Given the description of an element on the screen output the (x, y) to click on. 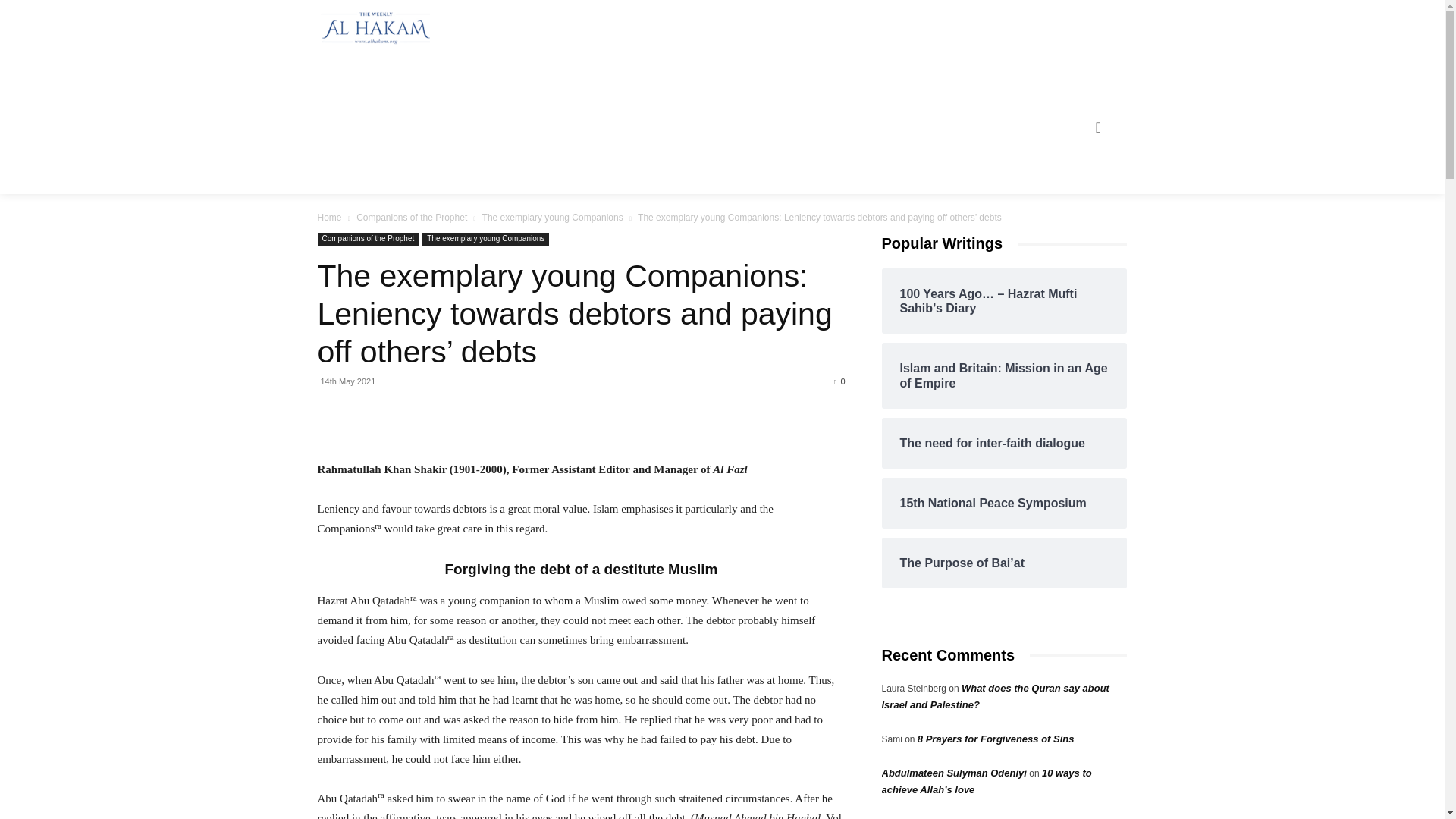
Alhakam (372, 27)
View all posts in The exemplary young Companions (552, 217)
View all posts in Companions of the Prophet (411, 217)
